Given the description of an element on the screen output the (x, y) to click on. 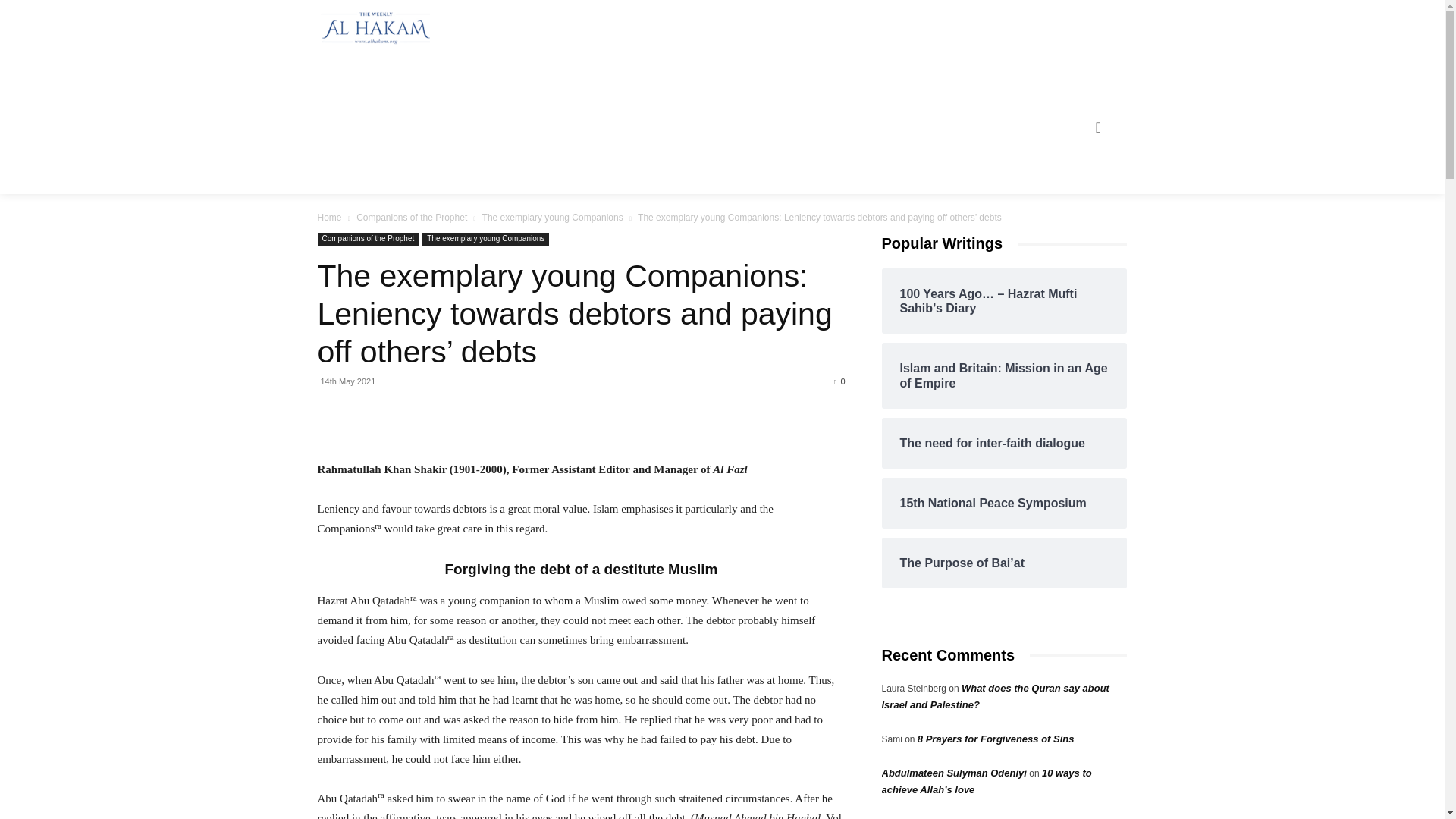
Alhakam (372, 27)
View all posts in The exemplary young Companions (552, 217)
View all posts in Companions of the Prophet (411, 217)
